Given the description of an element on the screen output the (x, y) to click on. 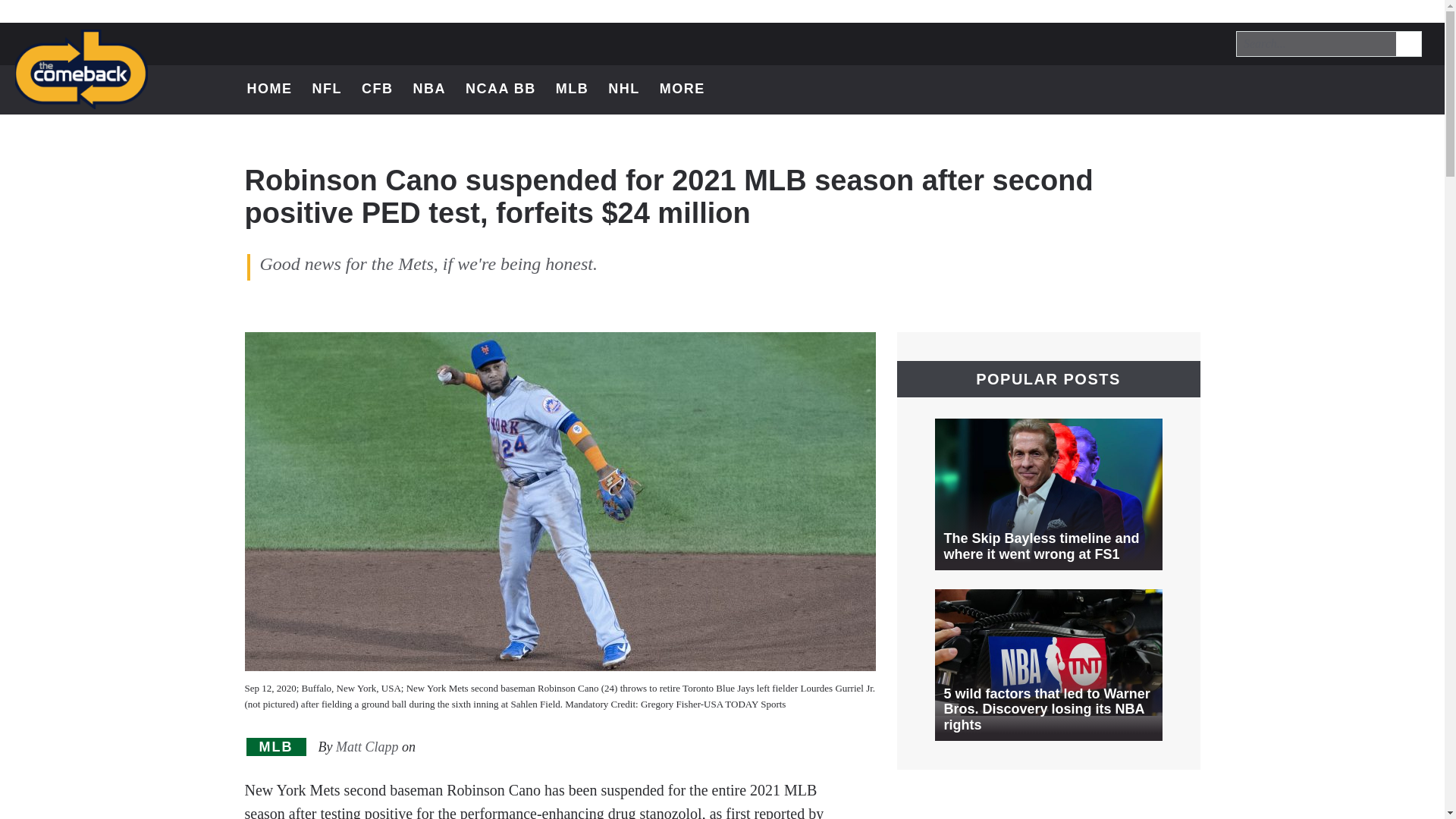
MORE (689, 89)
MLB (275, 746)
NCAA BB (500, 89)
Link to RSS (1414, 89)
Matt Clapp (367, 746)
Link to Facebook (1336, 89)
CFB (376, 89)
HOME (269, 89)
View all posts in MLB (275, 746)
MLB (572, 89)
